Given the description of an element on the screen output the (x, y) to click on. 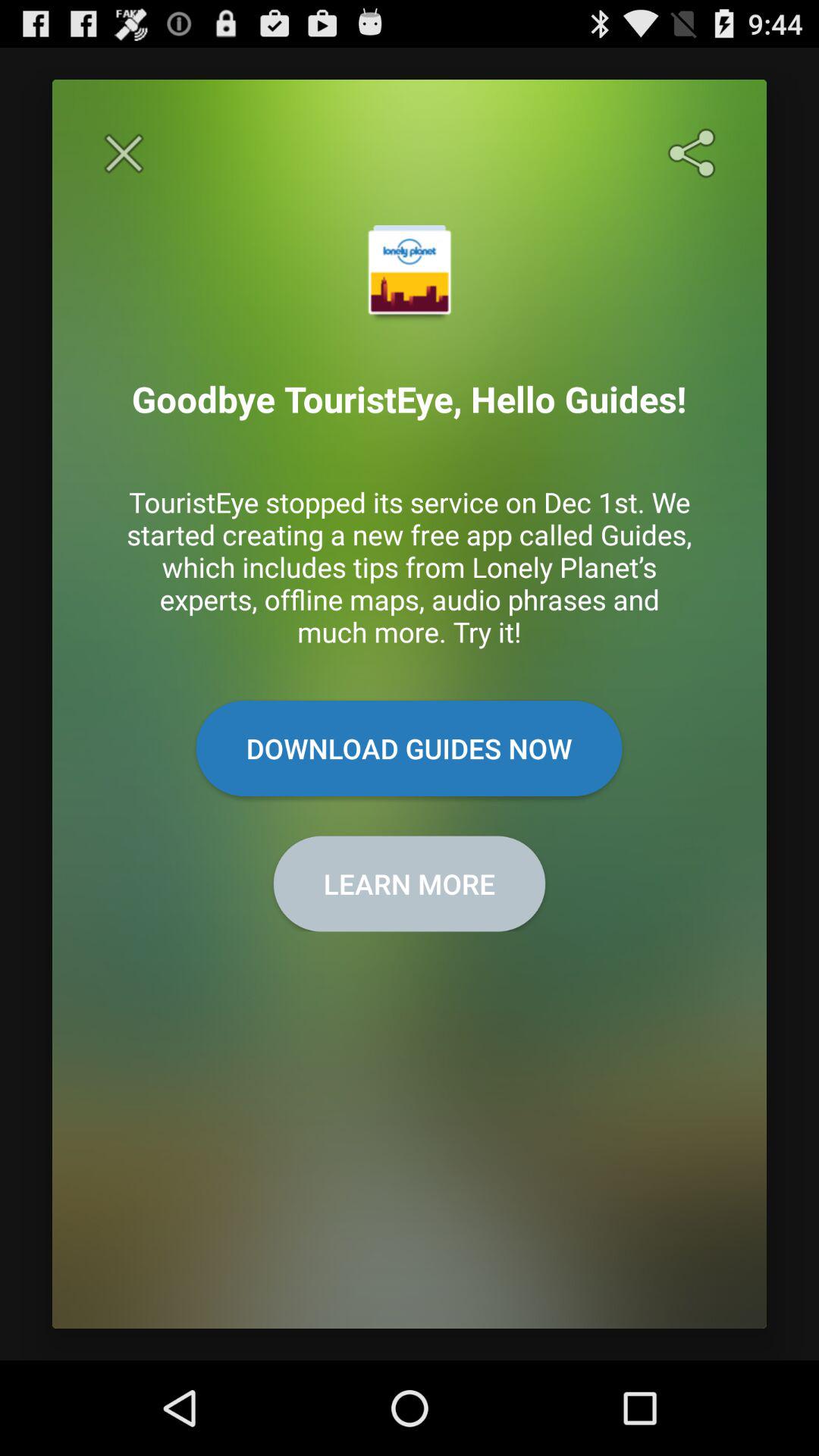
click download guides now (409, 748)
